Given the description of an element on the screen output the (x, y) to click on. 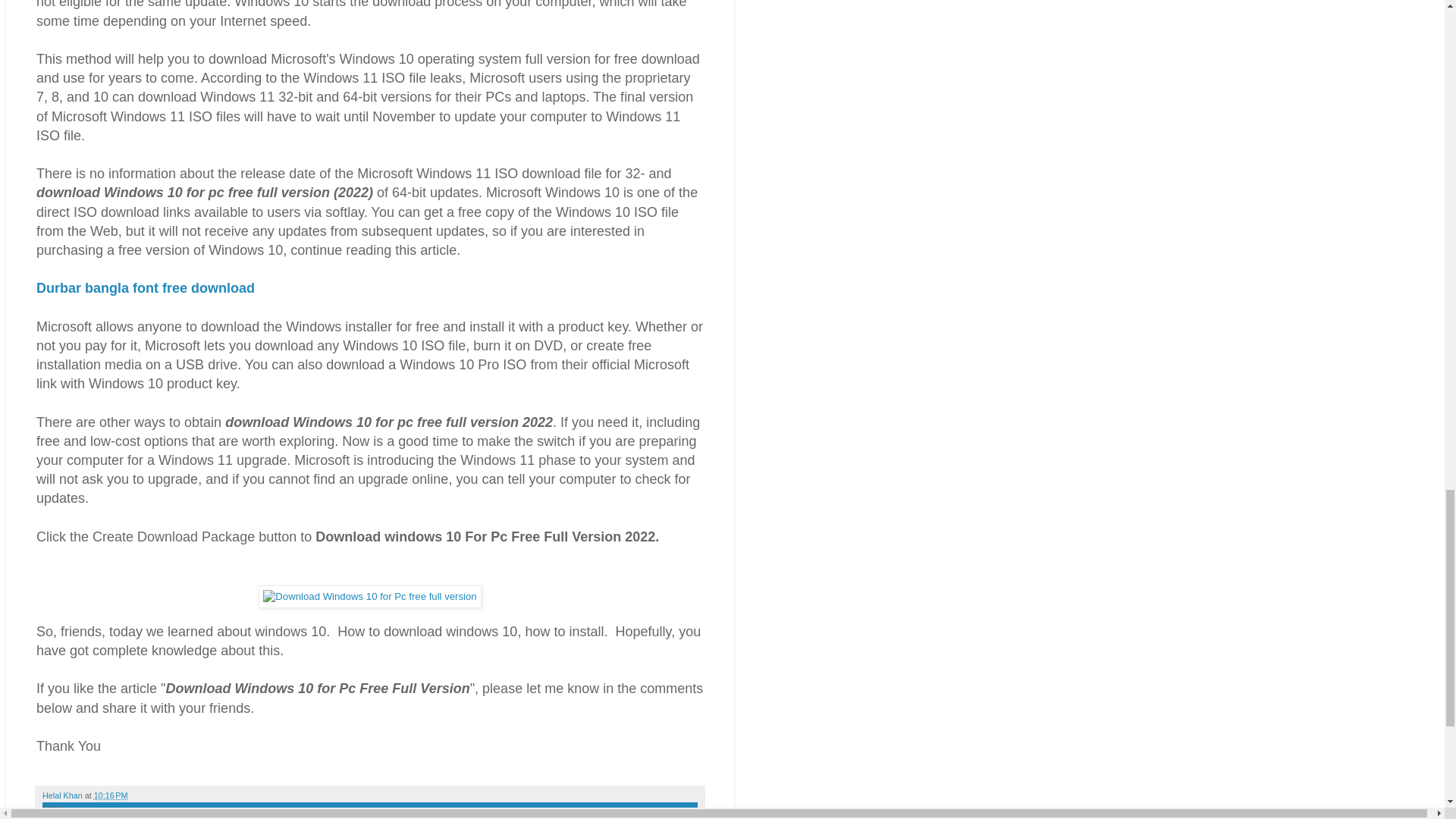
Durbar bangla font free download (145, 287)
Helal Khan (63, 795)
Download windows 10 full version free for Pc (369, 596)
permanent link (111, 795)
author profile (63, 795)
Share (53, 808)
